Given the description of an element on the screen output the (x, y) to click on. 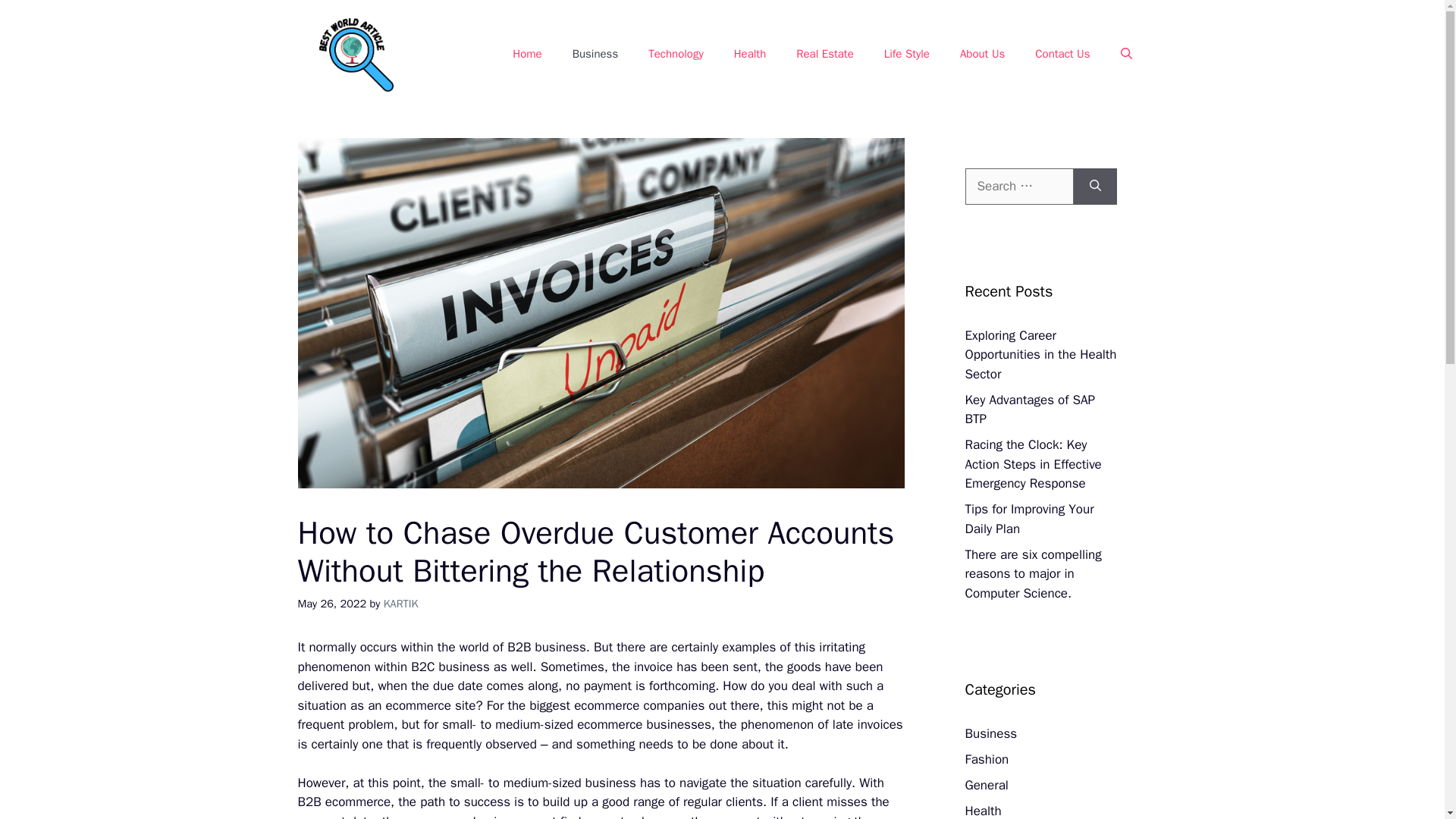
Business (989, 733)
Home (526, 53)
Technology (676, 53)
Exploring Career Opportunities in the Health Sector (1039, 354)
Fashion (986, 759)
Health (750, 53)
Health (982, 811)
General (985, 785)
KARTIK (401, 603)
Business (595, 53)
Tips for Improving Your Daily Plan (1028, 519)
About Us (982, 53)
Life Style (906, 53)
